Given the description of an element on the screen output the (x, y) to click on. 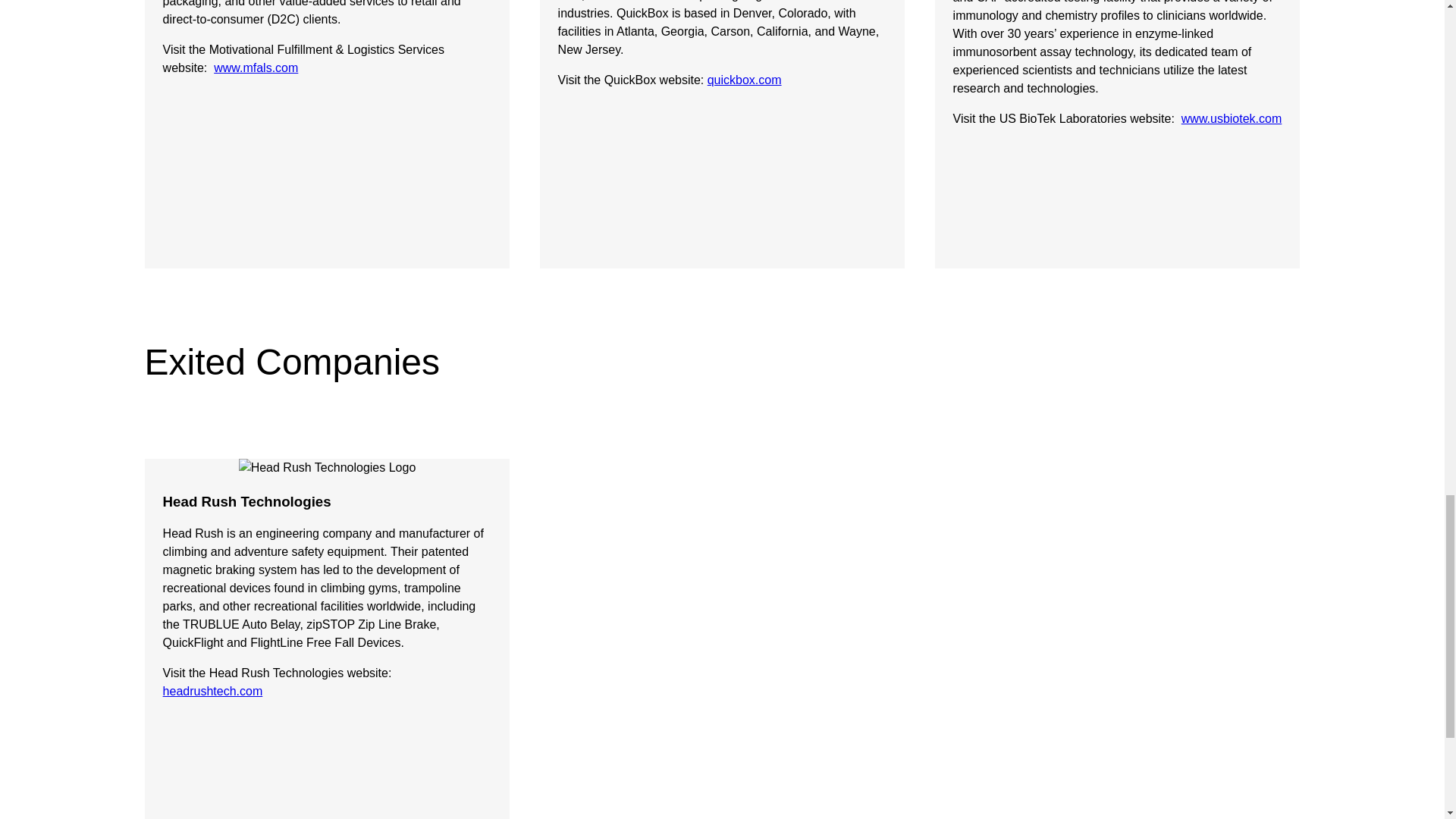
headrushtech.com (213, 690)
www.usbiotek.com (1231, 118)
quickbox.com (744, 79)
www.mfals.com (256, 67)
Head Rush Technologies Logo (327, 467)
